Given the description of an element on the screen output the (x, y) to click on. 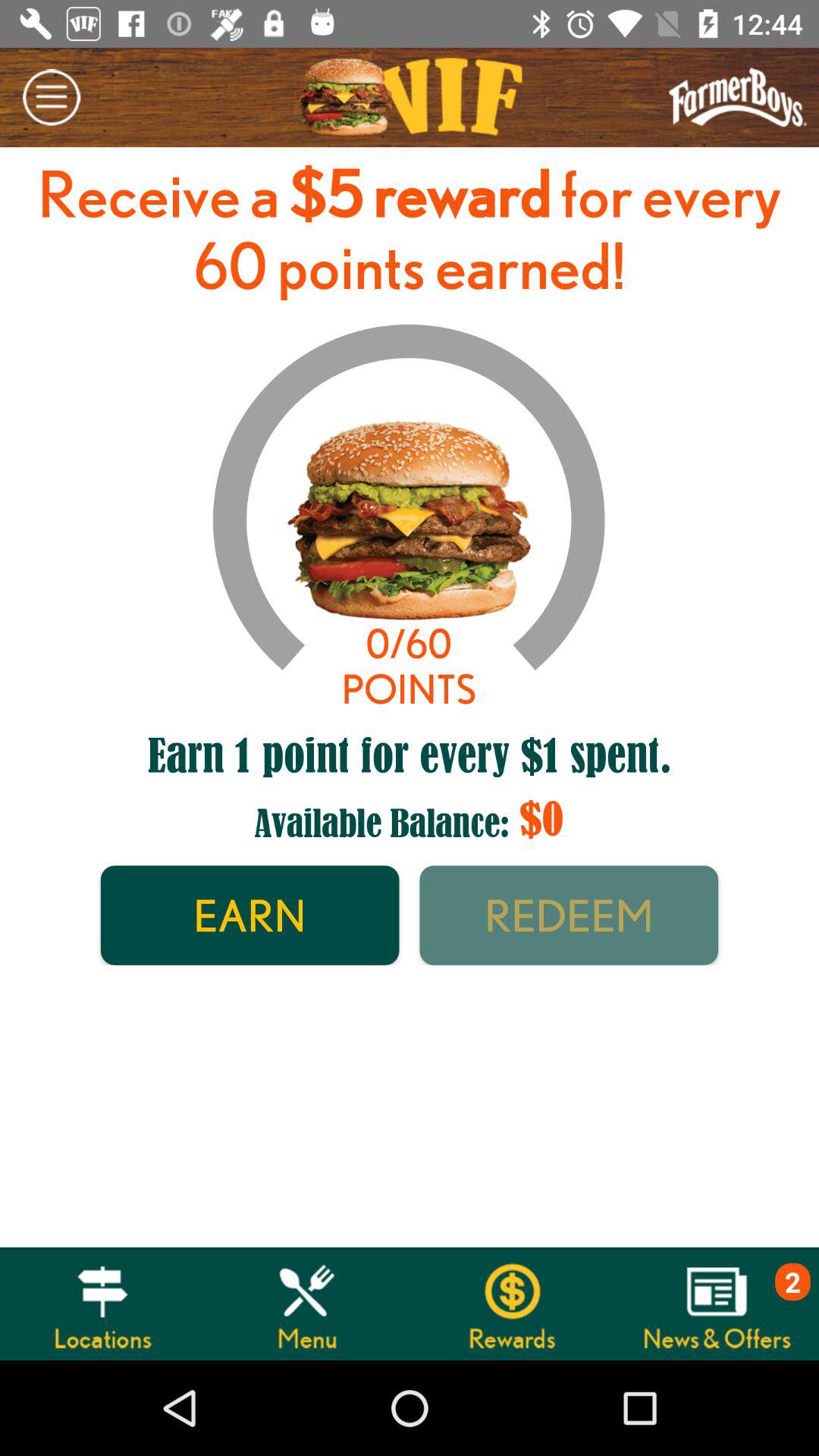
launch icon below the available balance: (568, 915)
